Given the description of an element on the screen output the (x, y) to click on. 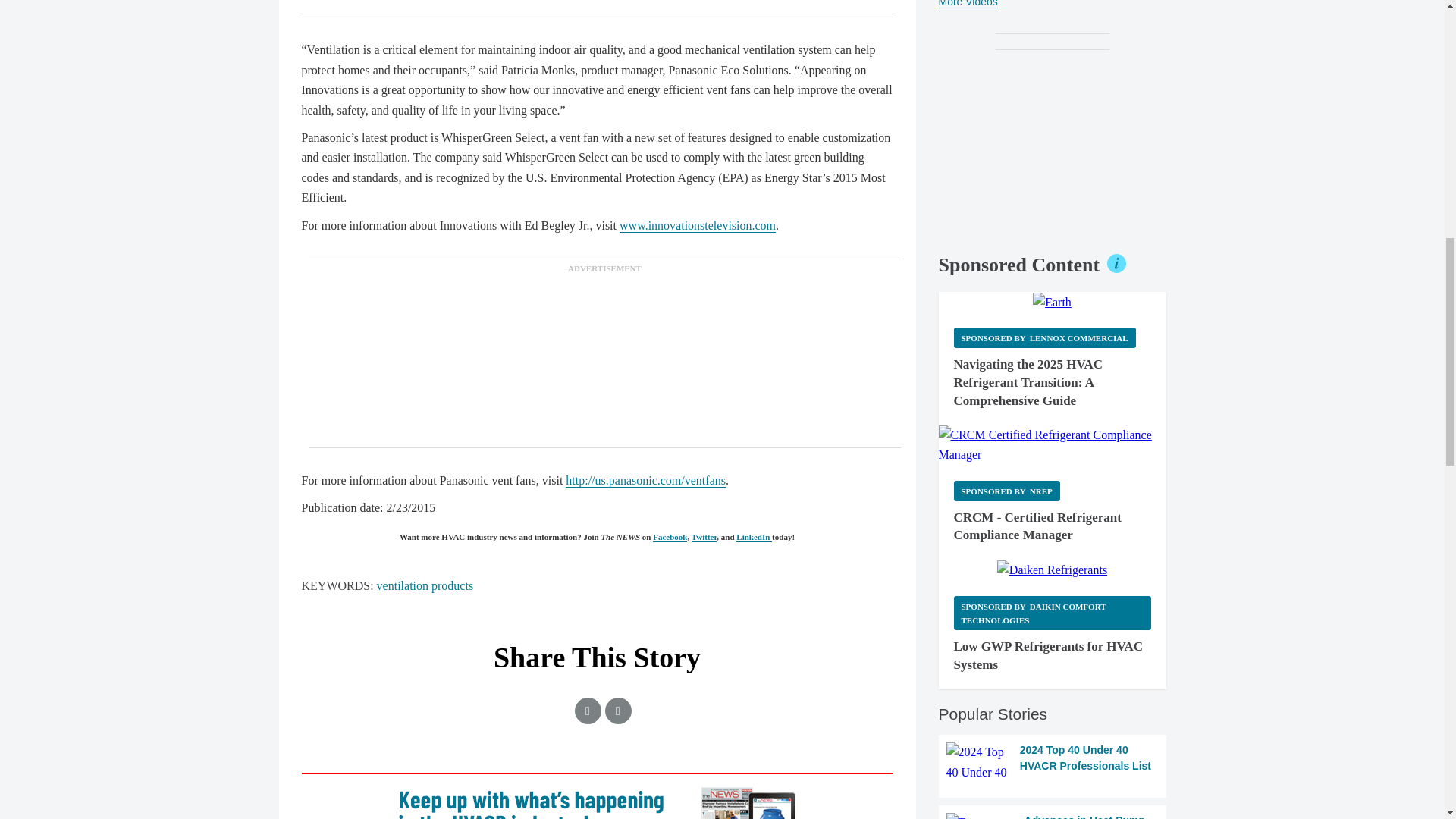
Daiken Refrigerants (1051, 569)
Sponsored by NREP (1006, 490)
Advances in Heat Pump Rooftop Units for Cold Climates (1052, 816)
2024 Top 40 Under 40 HVACR Professionals List (1052, 762)
Sponsored by Daikin Comfort Technologies (1052, 612)
Sponsored by Lennox Commercial (1044, 337)
Earth (1051, 302)
CRCM Certified Refrigerant Compliance Manager (1052, 445)
